Given the description of an element on the screen output the (x, y) to click on. 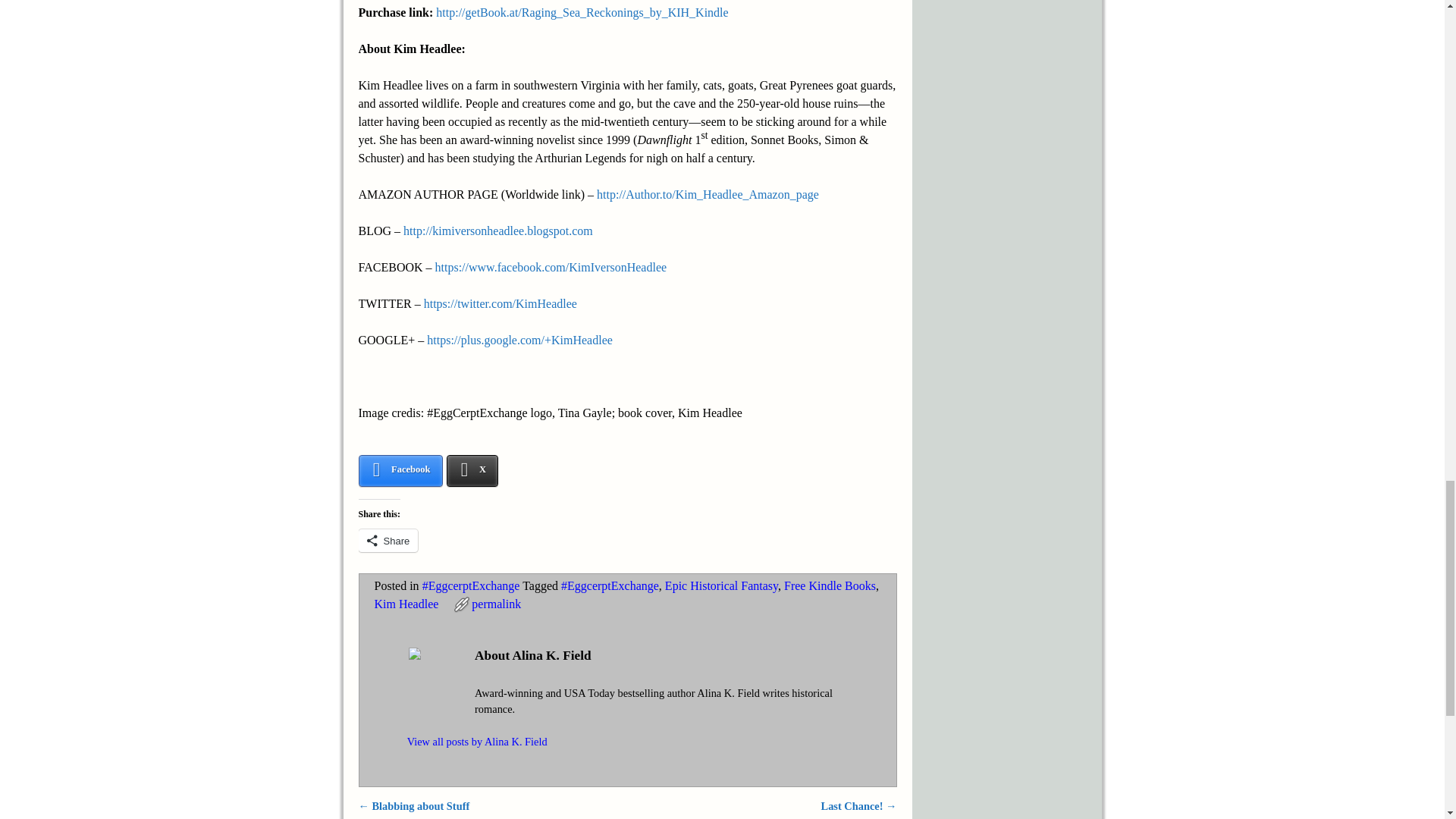
permalink (496, 603)
Kim Headlee (406, 603)
View all posts by Alina K. Field (477, 741)
Share (387, 540)
Free Kindle Books (830, 585)
Share this article on Facebook (400, 470)
Facebook (400, 470)
Share this article on X (472, 470)
X (472, 470)
Epic Historical Fantasy (721, 585)
